Given the description of an element on the screen output the (x, y) to click on. 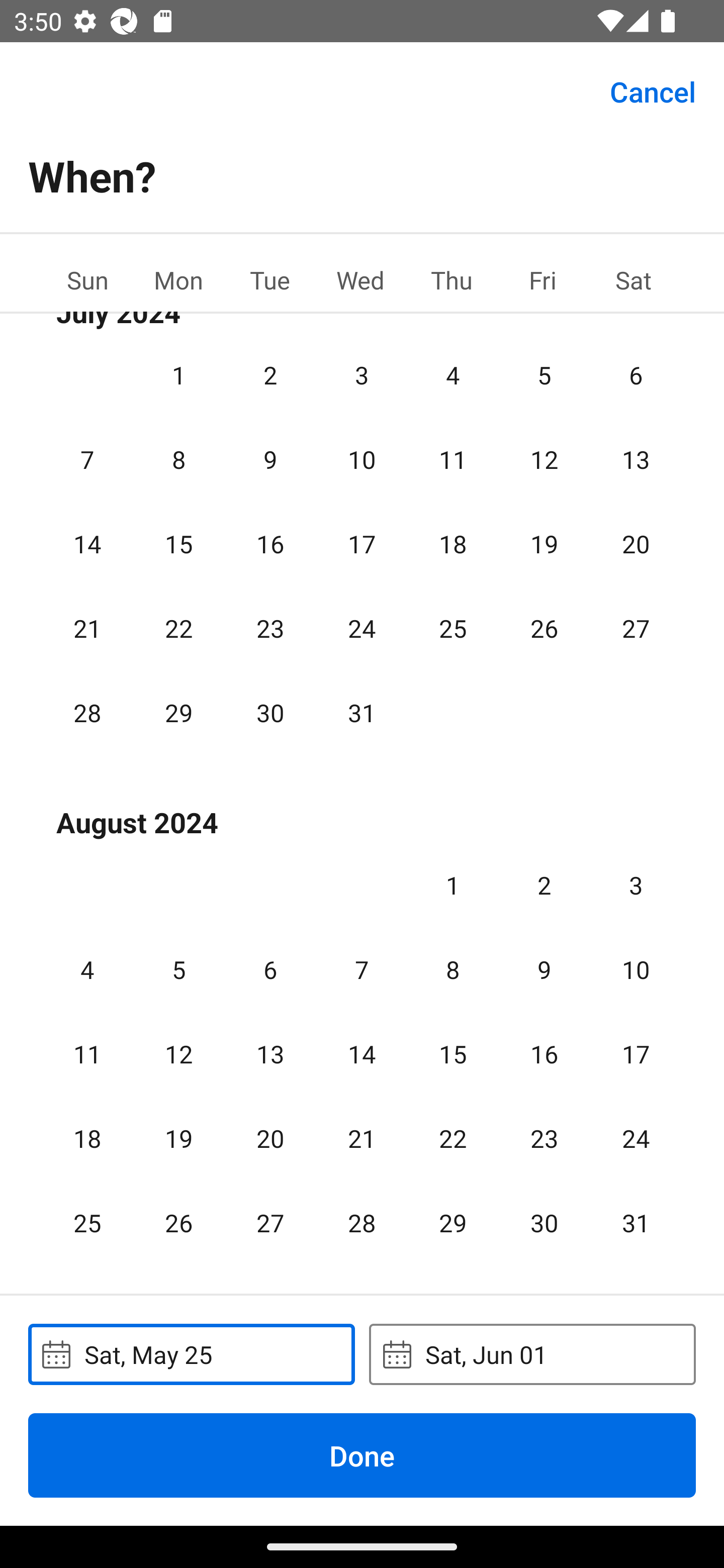
Cancel (652, 90)
Sat, May 25 (191, 1353)
Sat, Jun 01 (532, 1353)
Done (361, 1454)
